Given the description of an element on the screen output the (x, y) to click on. 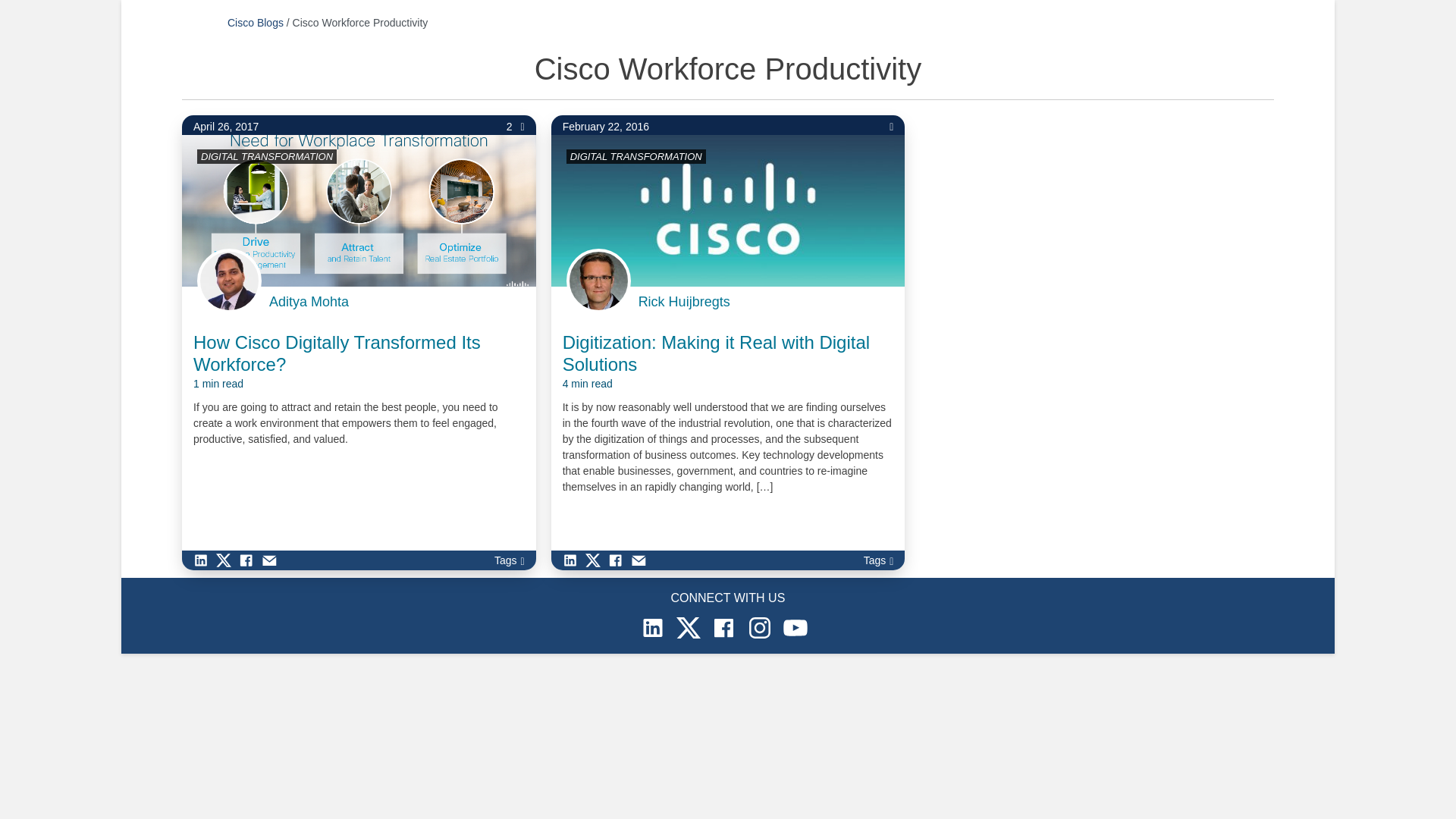
DIGITAL TRANSFORMATION (635, 156)
Rick Huijbregts (684, 302)
Posts by Aditya Mohta (309, 302)
Posts by Rick Huijbregts (684, 302)
Aditya Mohta (309, 302)
2 (515, 126)
Cisco Blogs (255, 22)
How Cisco Digitally Transformed Its Workforce? (358, 361)
DIGITAL TRANSFORMATION (266, 156)
Digitization: Making it Real with Digital Solutions (727, 361)
